Given the description of an element on the screen output the (x, y) to click on. 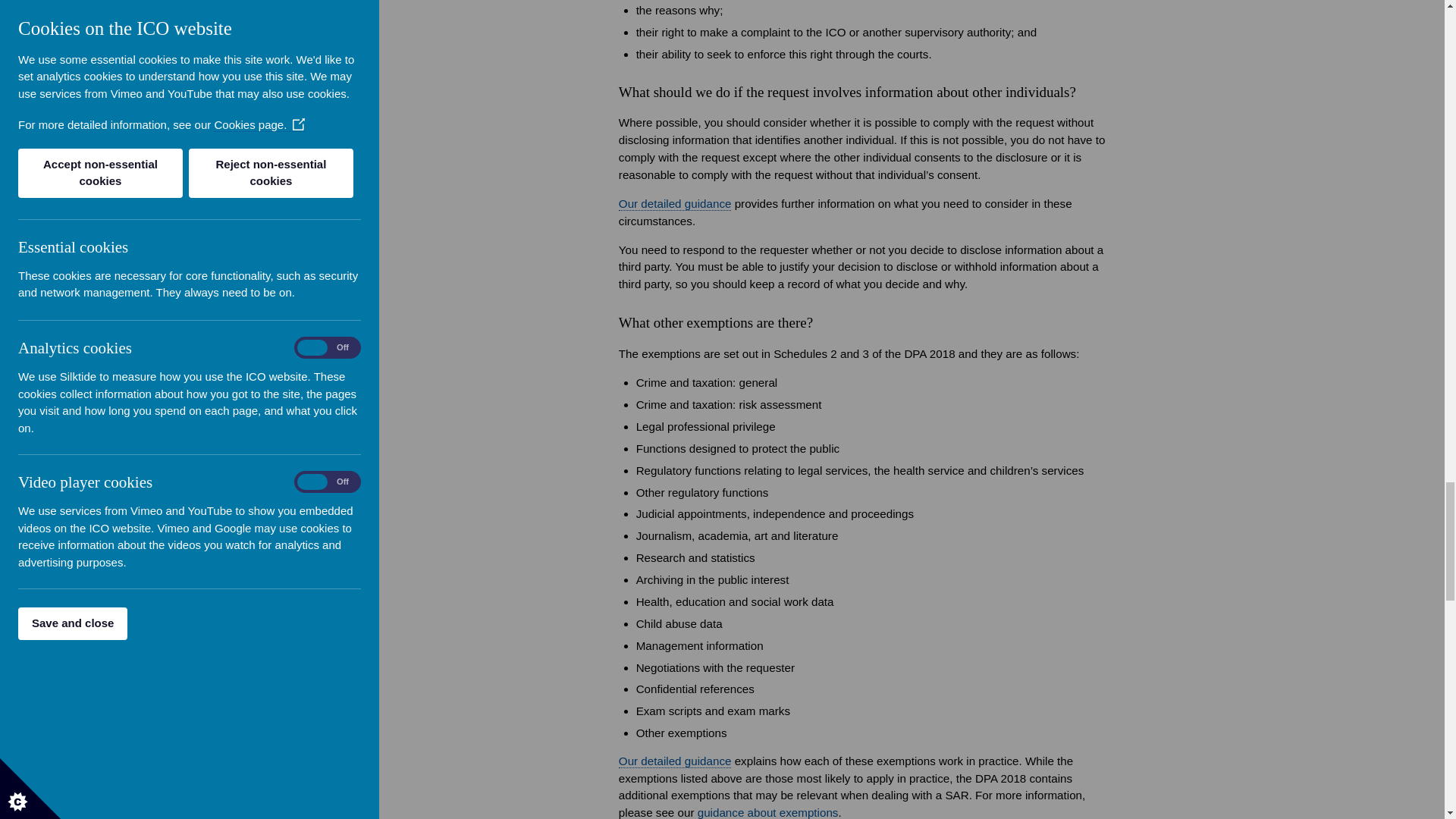
Information about other individuals (675, 203)
What other exemptions are there? (675, 761)
